Given the description of an element on the screen output the (x, y) to click on. 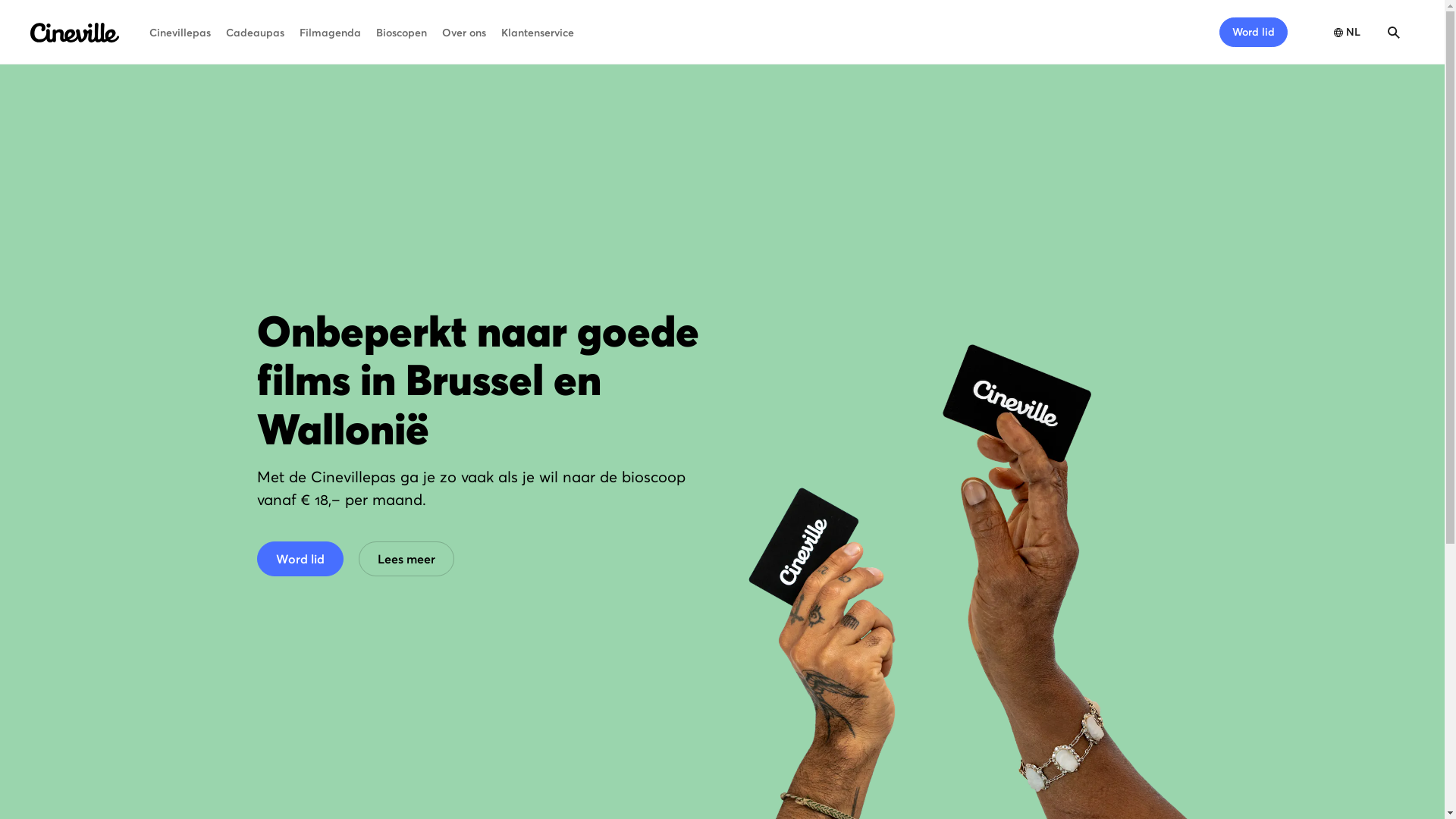
Over ons Element type: text (464, 32)
Klantenservice Element type: text (537, 32)
Bioscopen Element type: text (401, 32)
NL Element type: text (1345, 32)
Filmagenda Element type: text (329, 32)
Word lid Element type: text (299, 558)
Lees meer Element type: text (405, 558)
Cadeaupas Element type: text (254, 32)
Word lid Element type: text (1253, 32)
Cinevillepas Element type: text (179, 32)
Home Element type: text (74, 32)
